Given the description of an element on the screen output the (x, y) to click on. 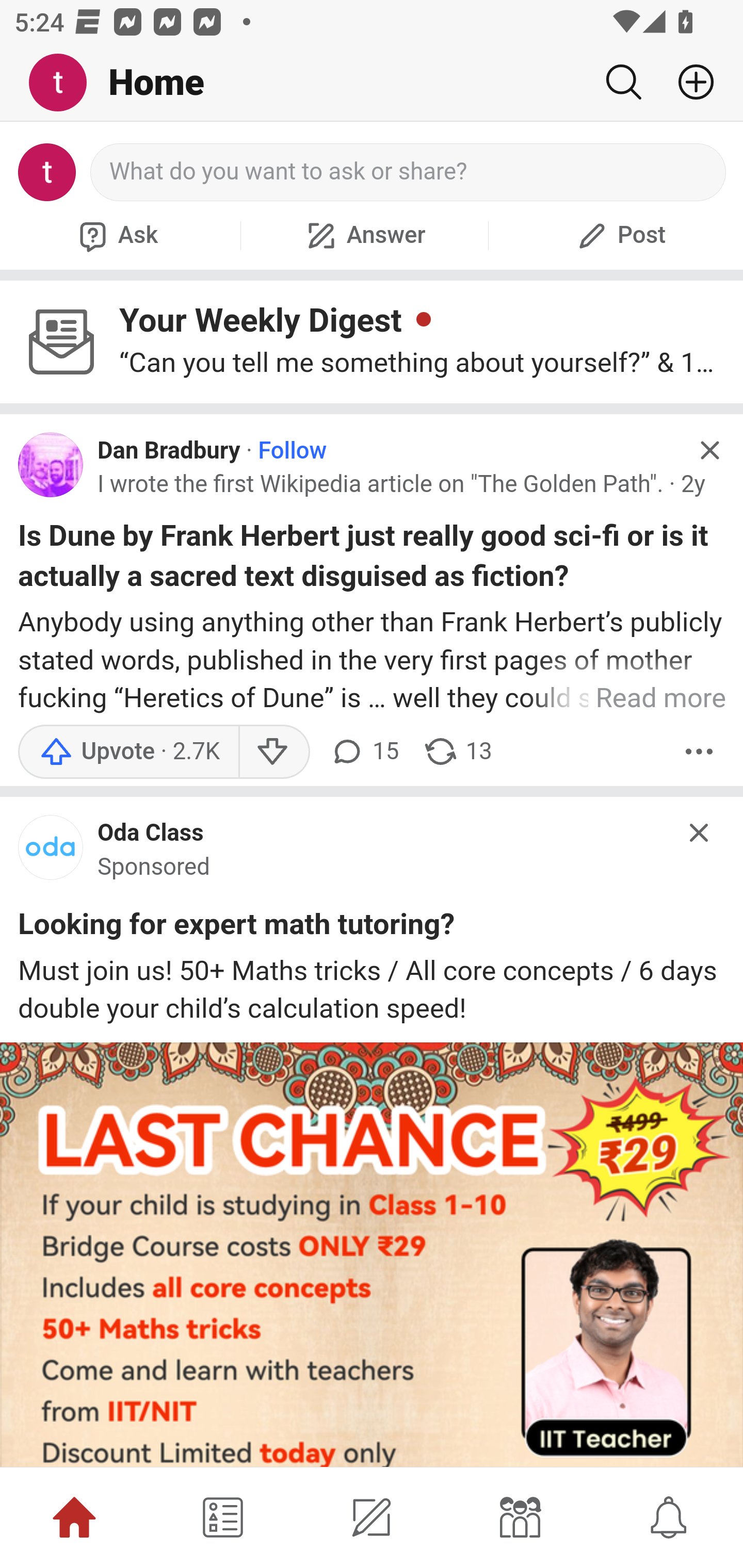
Me Home Search Add (371, 82)
Me (64, 83)
Search (623, 82)
Add (688, 82)
